Given the description of an element on the screen output the (x, y) to click on. 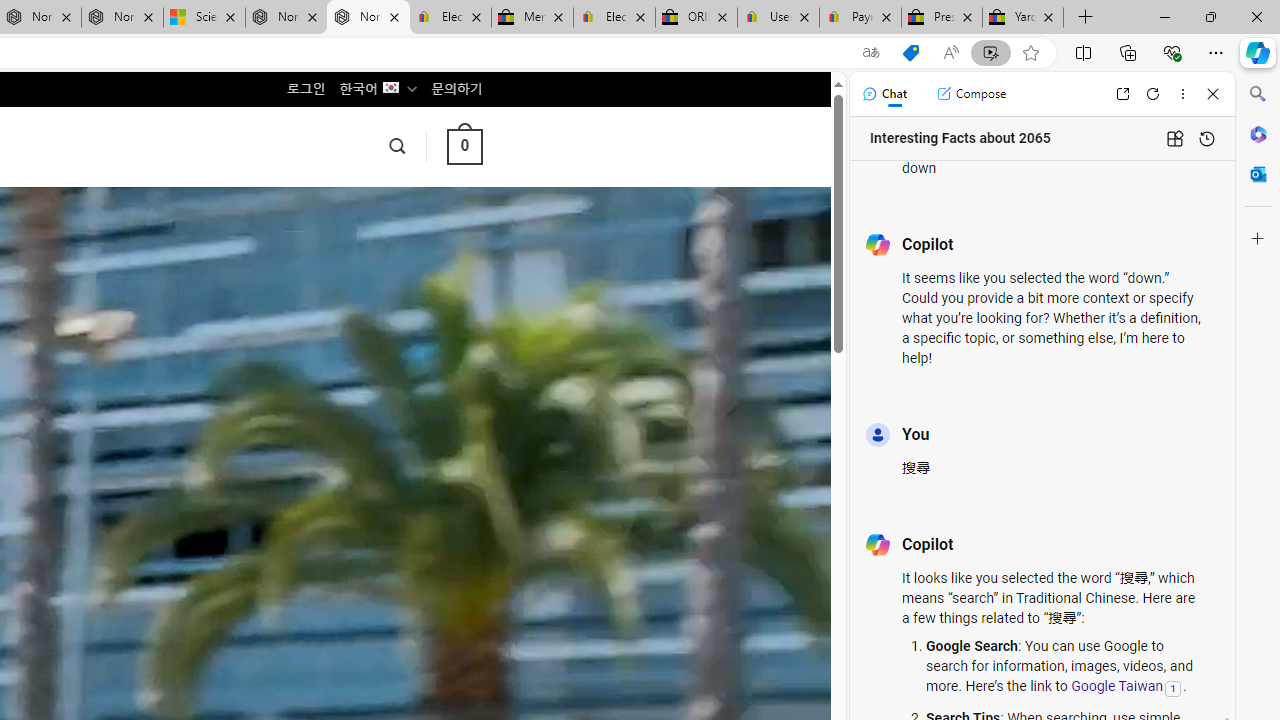
Chat (884, 93)
Nordace - Summer Adventures 2024 (285, 17)
Open link in new tab (1122, 93)
  0   (464, 146)
Show translate options (870, 53)
Nordace - Home (368, 17)
